Given the description of an element on the screen output the (x, y) to click on. 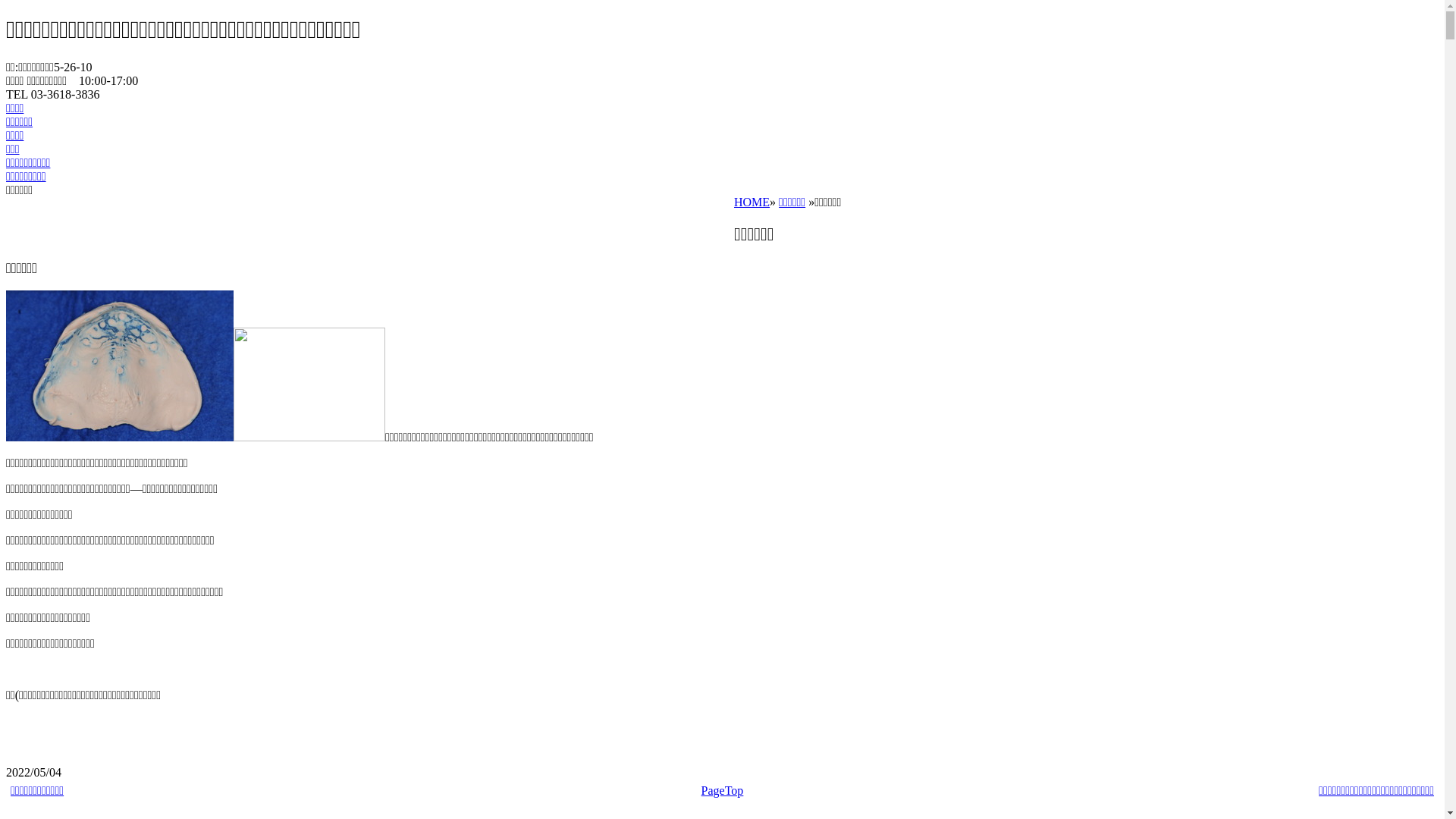
PageTop Element type: text (722, 790)
HOME Element type: text (751, 201)
